Given the description of an element on the screen output the (x, y) to click on. 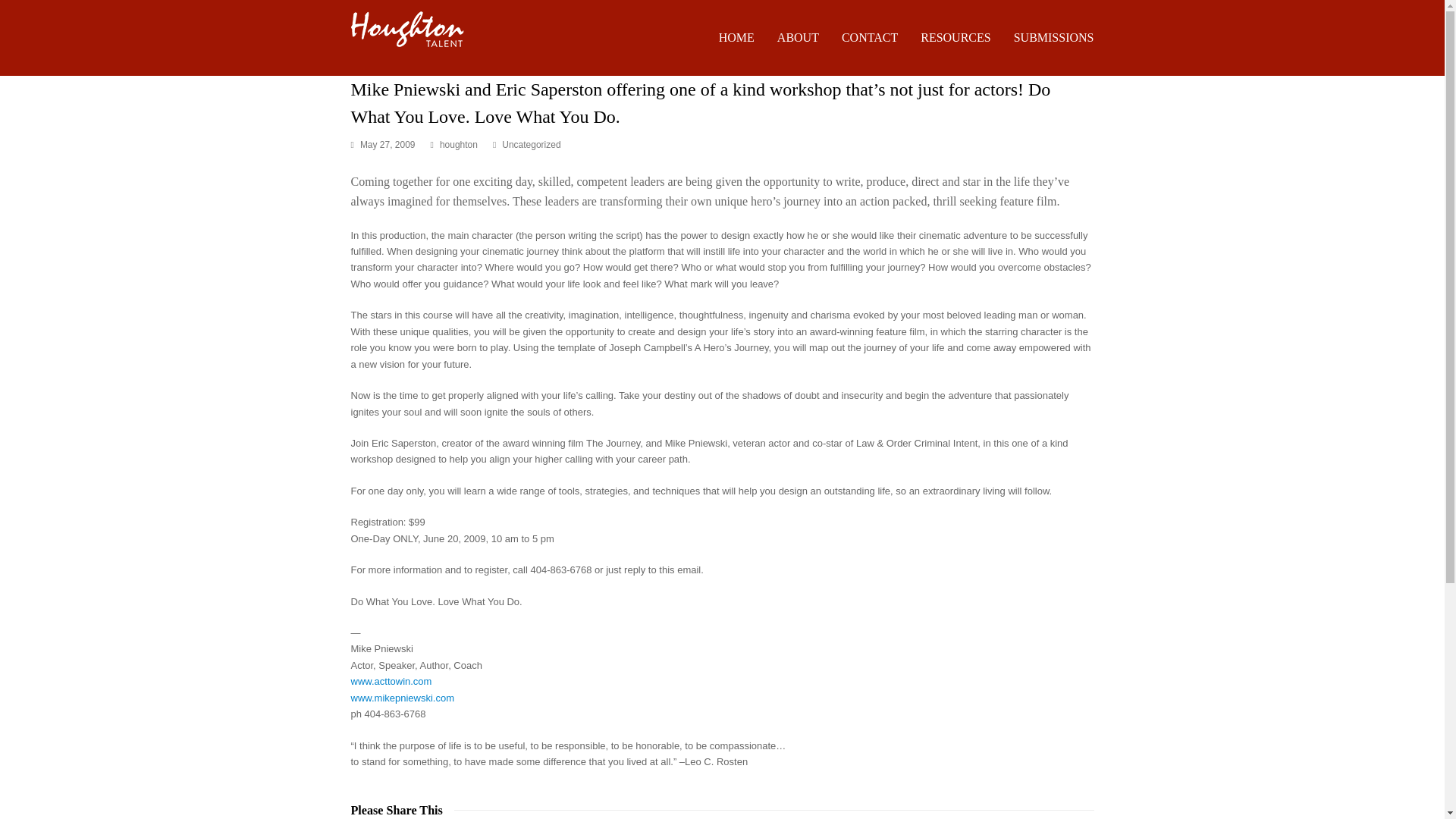
ABOUT (797, 37)
SUBMISSIONS (1054, 37)
Uncategorized (531, 144)
HOME (736, 37)
www.mikepniewski.com (402, 697)
RESOURCES (954, 37)
Uncategorized (531, 144)
CONTACT (868, 37)
www.acttowin.com (390, 681)
Posts by houghton (458, 144)
houghton (458, 144)
